Given the description of an element on the screen output the (x, y) to click on. 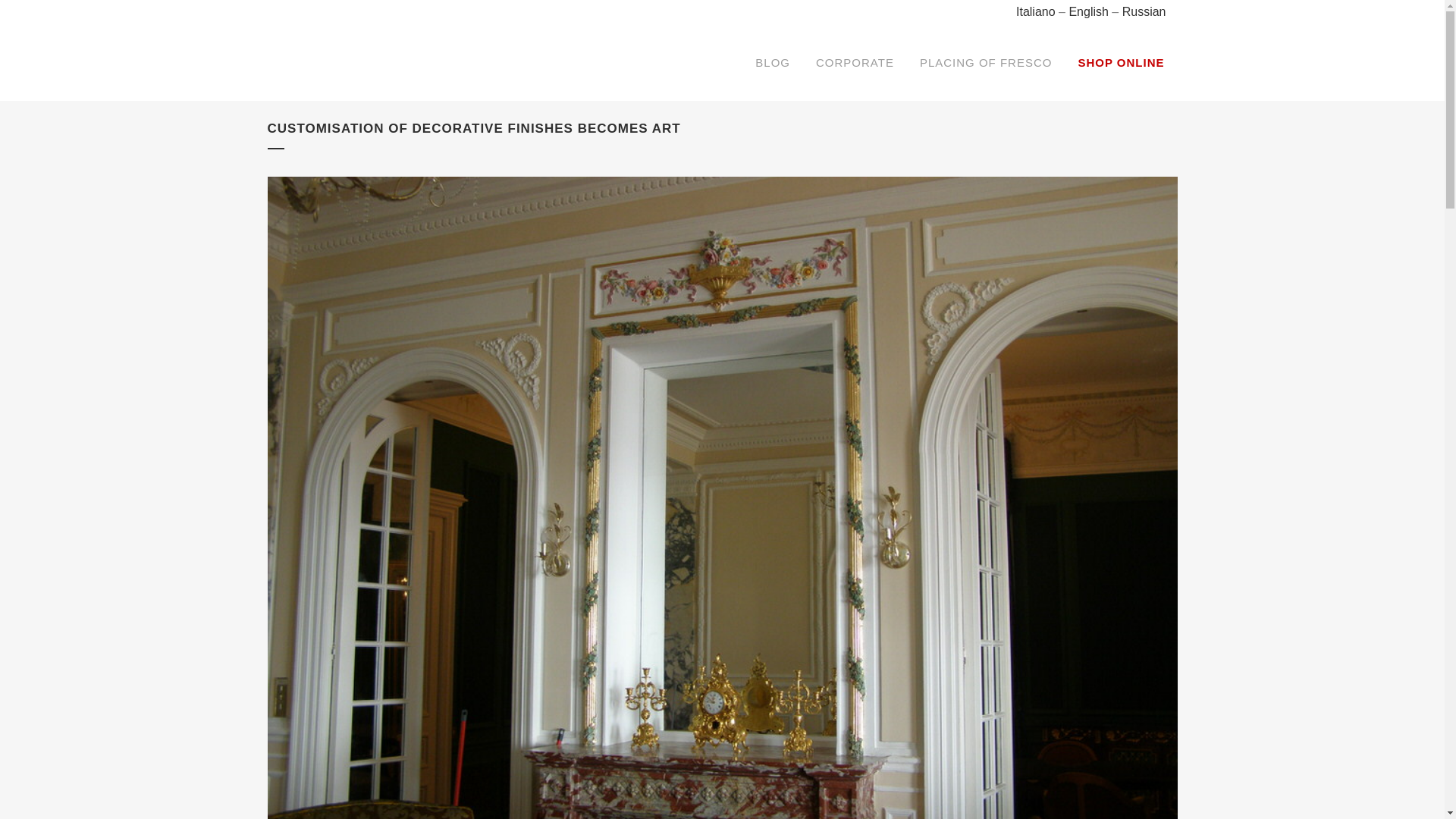
CORPORATE (855, 62)
SHOP ONLINE (1120, 62)
Russian (1144, 11)
Italiano (1035, 11)
PLACING OF FRESCO (986, 62)
English (1088, 11)
